Given the description of an element on the screen output the (x, y) to click on. 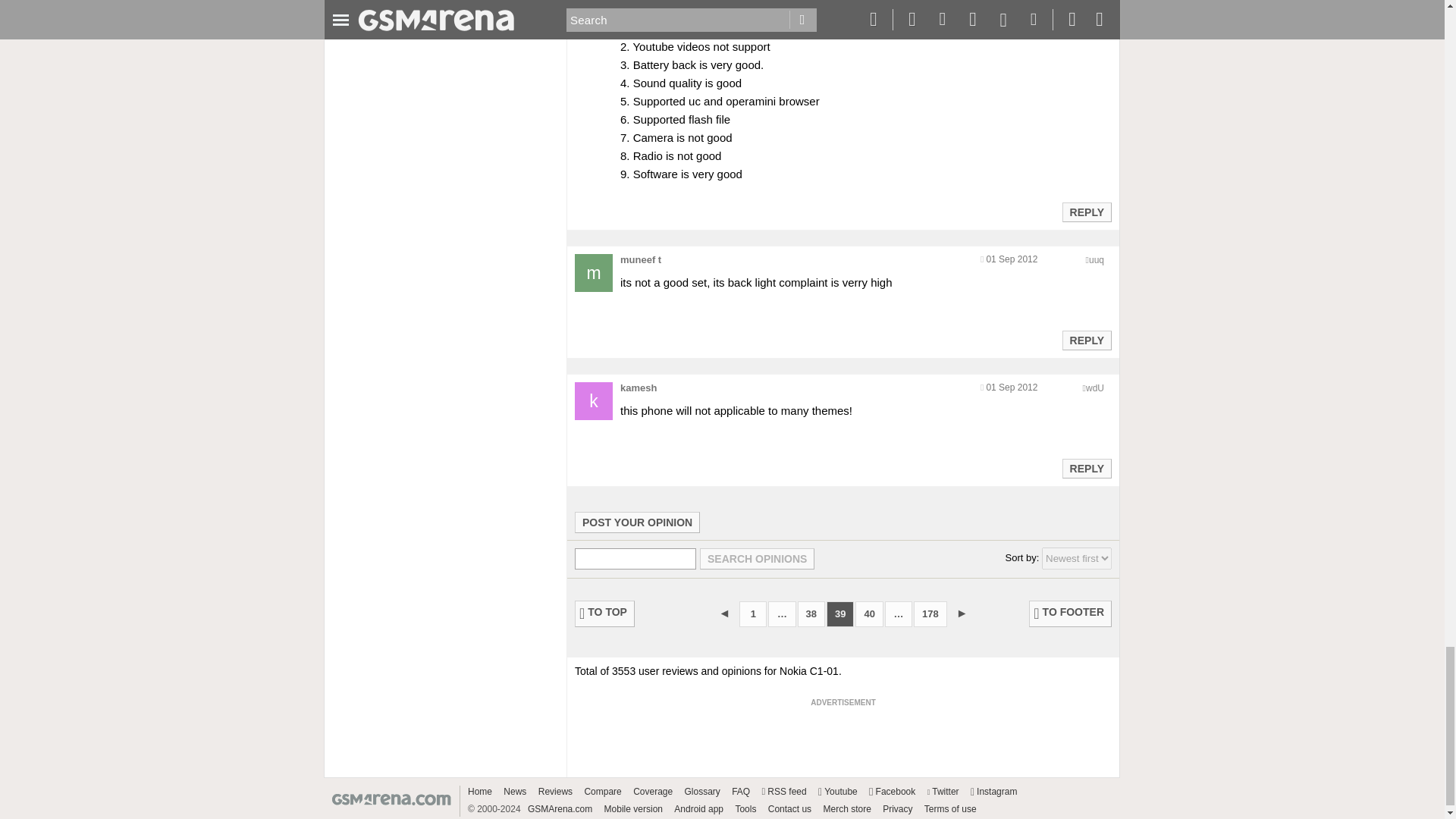
Search opinions (756, 558)
TO TOP (604, 613)
